Given the description of an element on the screen output the (x, y) to click on. 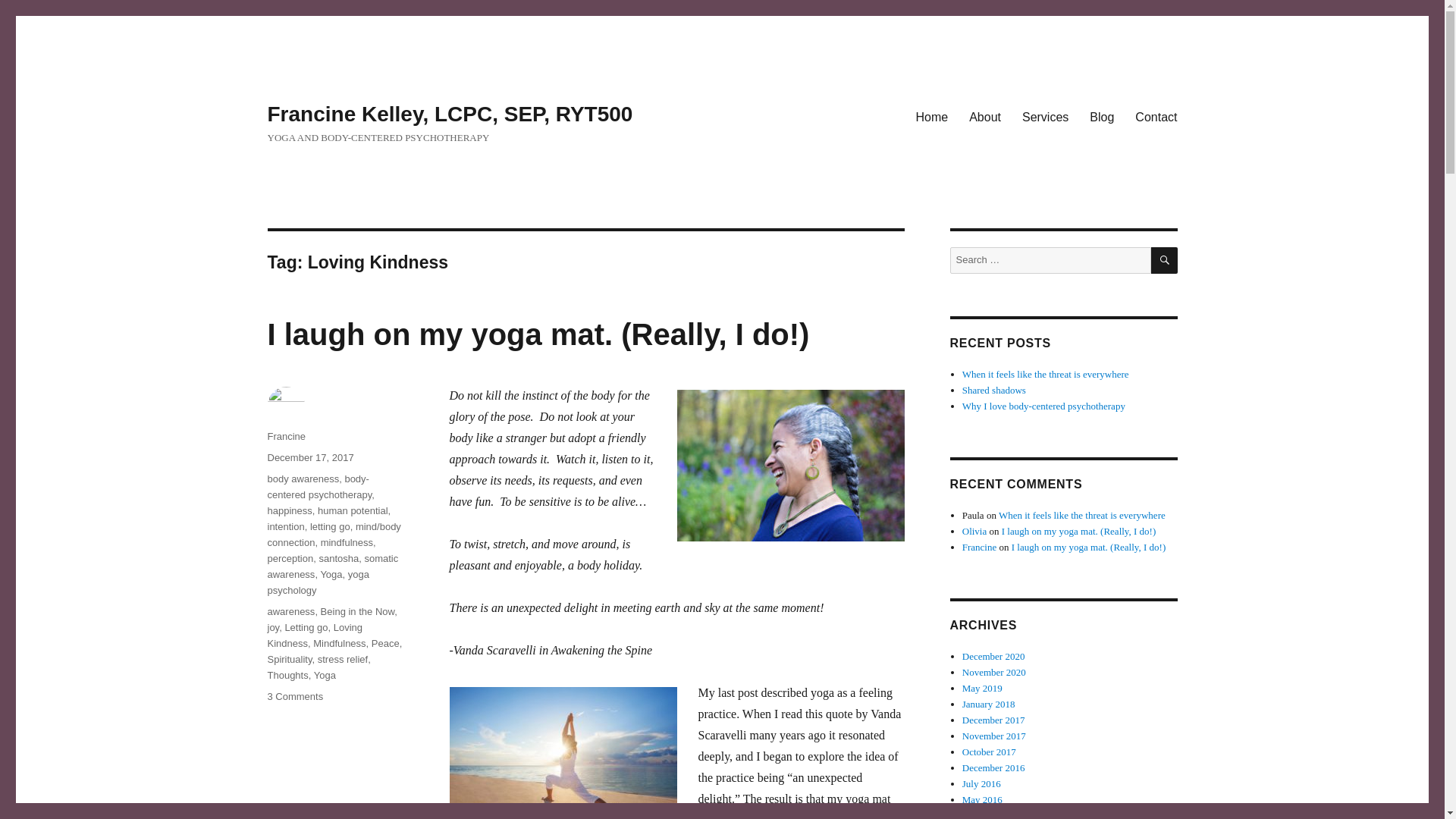
joy (272, 627)
mindfulness (346, 542)
Blog (1101, 116)
stress relief (342, 659)
Yoga (331, 573)
happiness (288, 510)
Home (931, 116)
awareness (290, 611)
Thoughts (286, 674)
perception (289, 558)
body awareness (302, 478)
Peace (384, 643)
Contact (1156, 116)
Letting go (305, 627)
yoga psychology (317, 582)
